Given the description of an element on the screen output the (x, y) to click on. 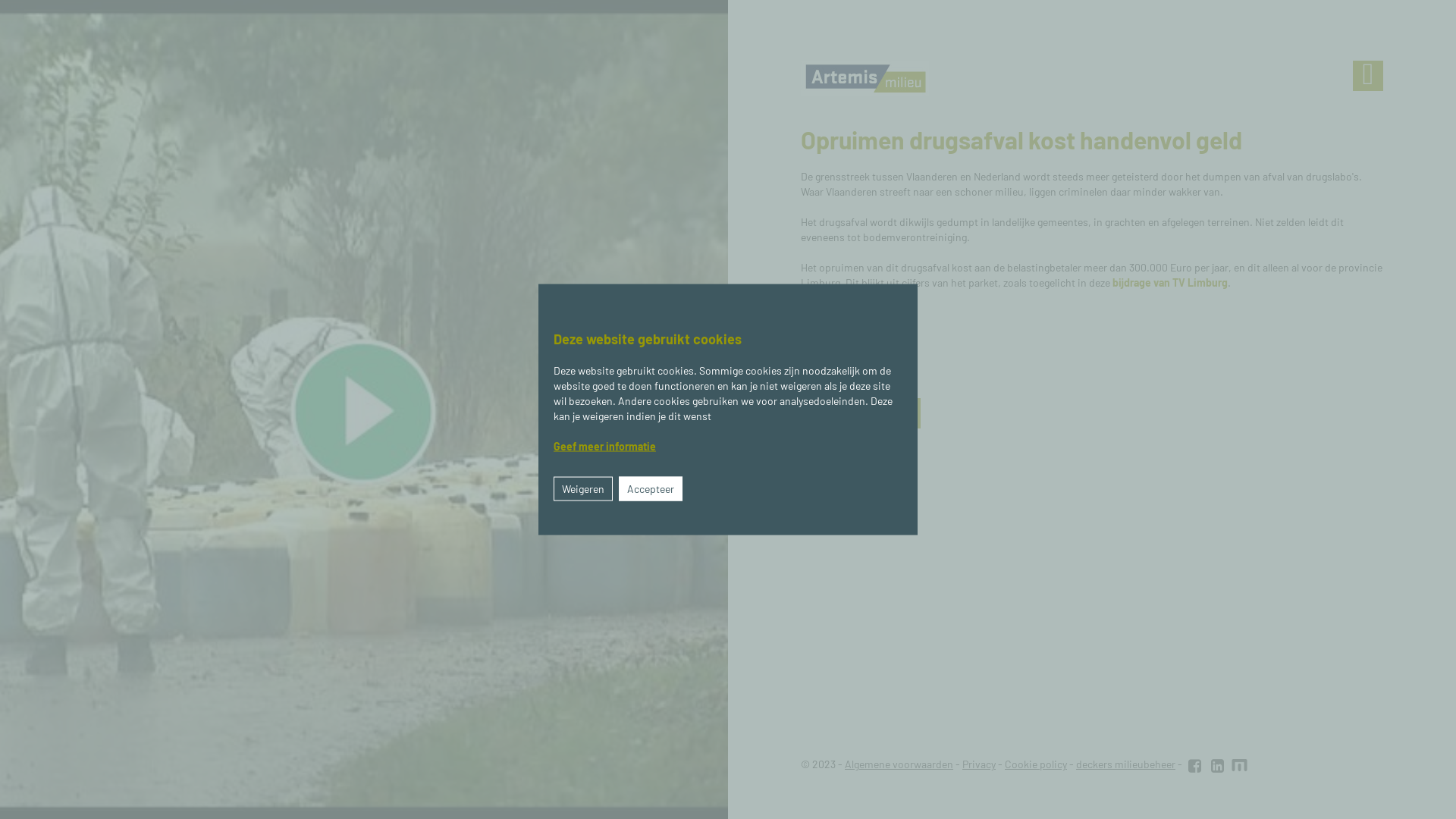
Cookie policy Element type: text (1035, 763)
Privacy Element type: text (978, 763)
bijdrage van TV Limburg Element type: text (1169, 282)
deckers milieubeheer Element type: text (1125, 763)
Geef meer informatie Element type: text (604, 445)
Algemene voorwaarden Element type: text (898, 763)
Terug naar overzicht Element type: text (860, 413)
